Given the description of an element on the screen output the (x, y) to click on. 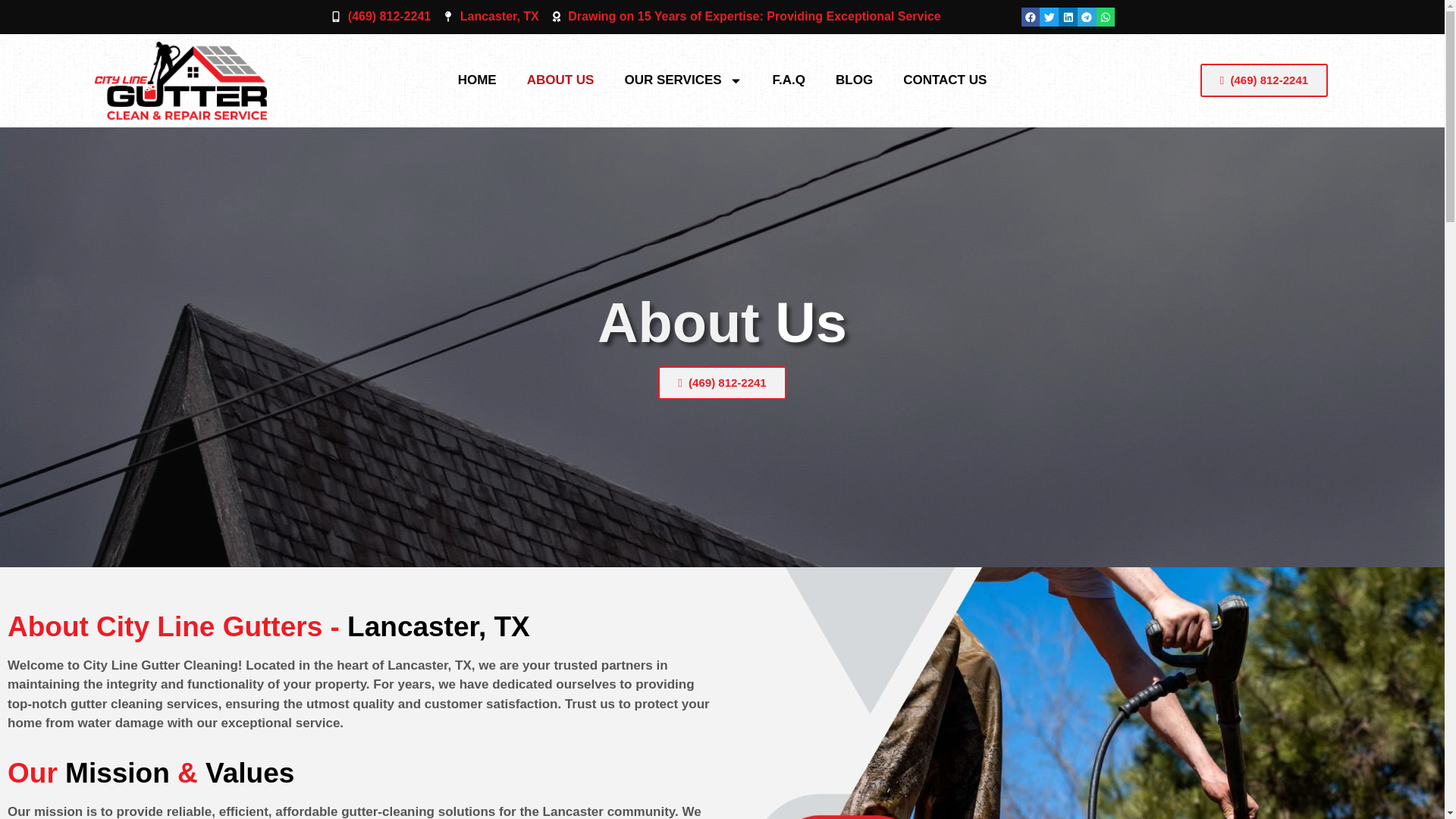
CONTACT US (944, 80)
ABOUT US (561, 80)
HOME (477, 80)
OUR SERVICES (682, 80)
BLOG (854, 80)
F.A.Q (789, 80)
